Given the description of an element on the screen output the (x, y) to click on. 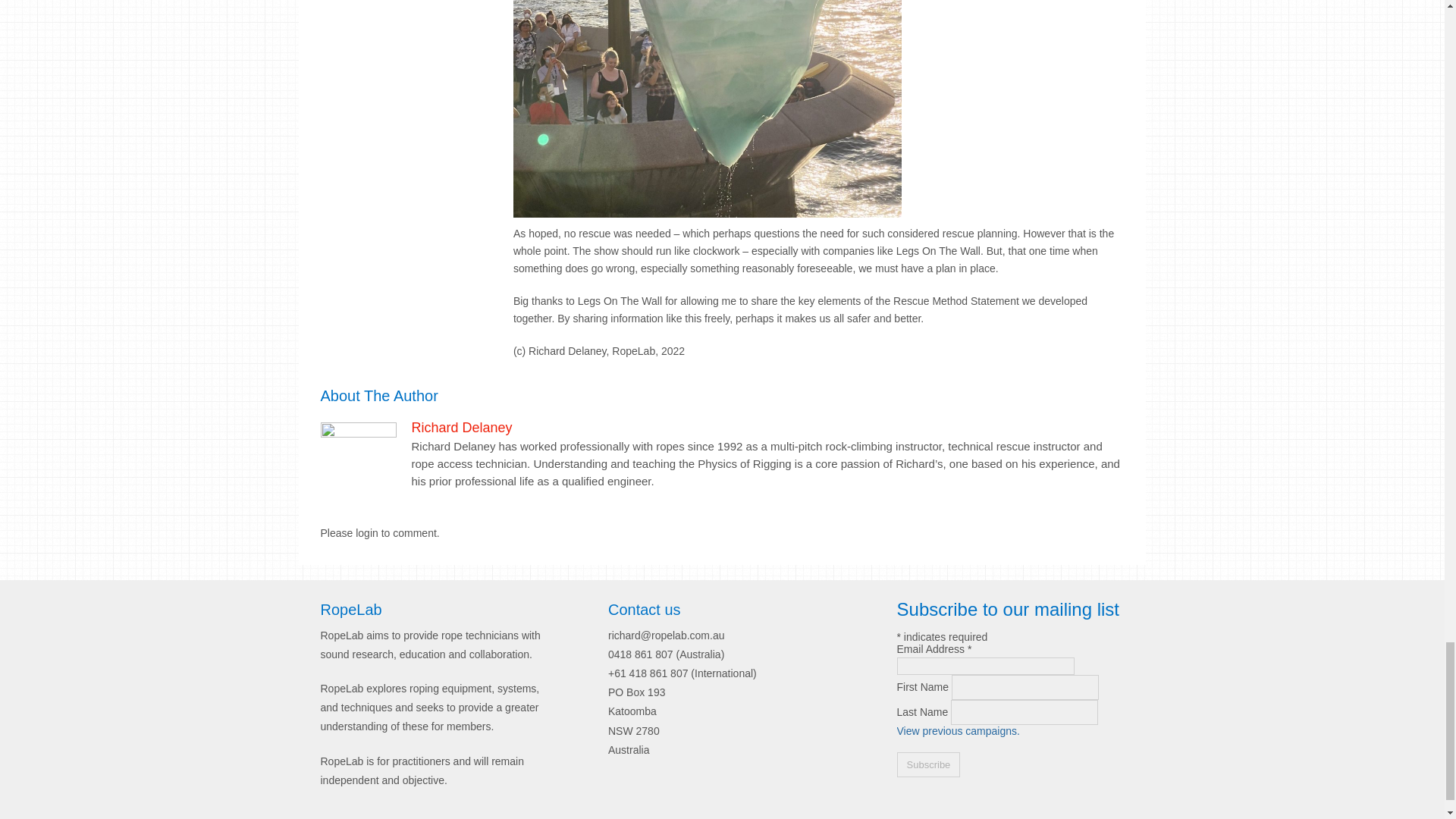
Subscribe (928, 764)
